Given the description of an element on the screen output the (x, y) to click on. 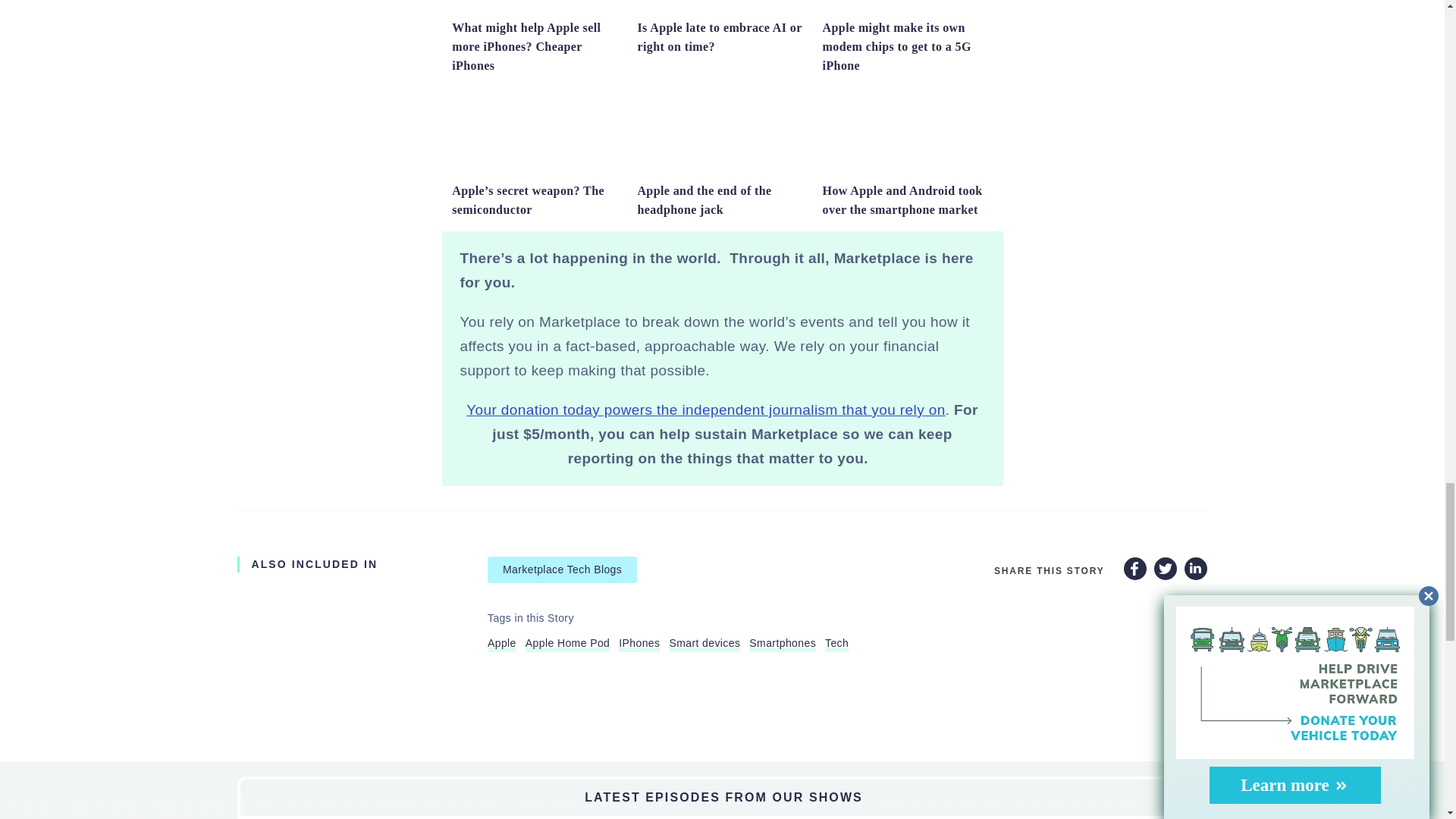
What might help Apple sell more iPhones? Cheaper iPhones (536, 6)
Is Apple late to embrace AI or right on time? (721, 6)
What might help Apple sell more iPhones? Cheaper iPhones (525, 46)
